Given the description of an element on the screen output the (x, y) to click on. 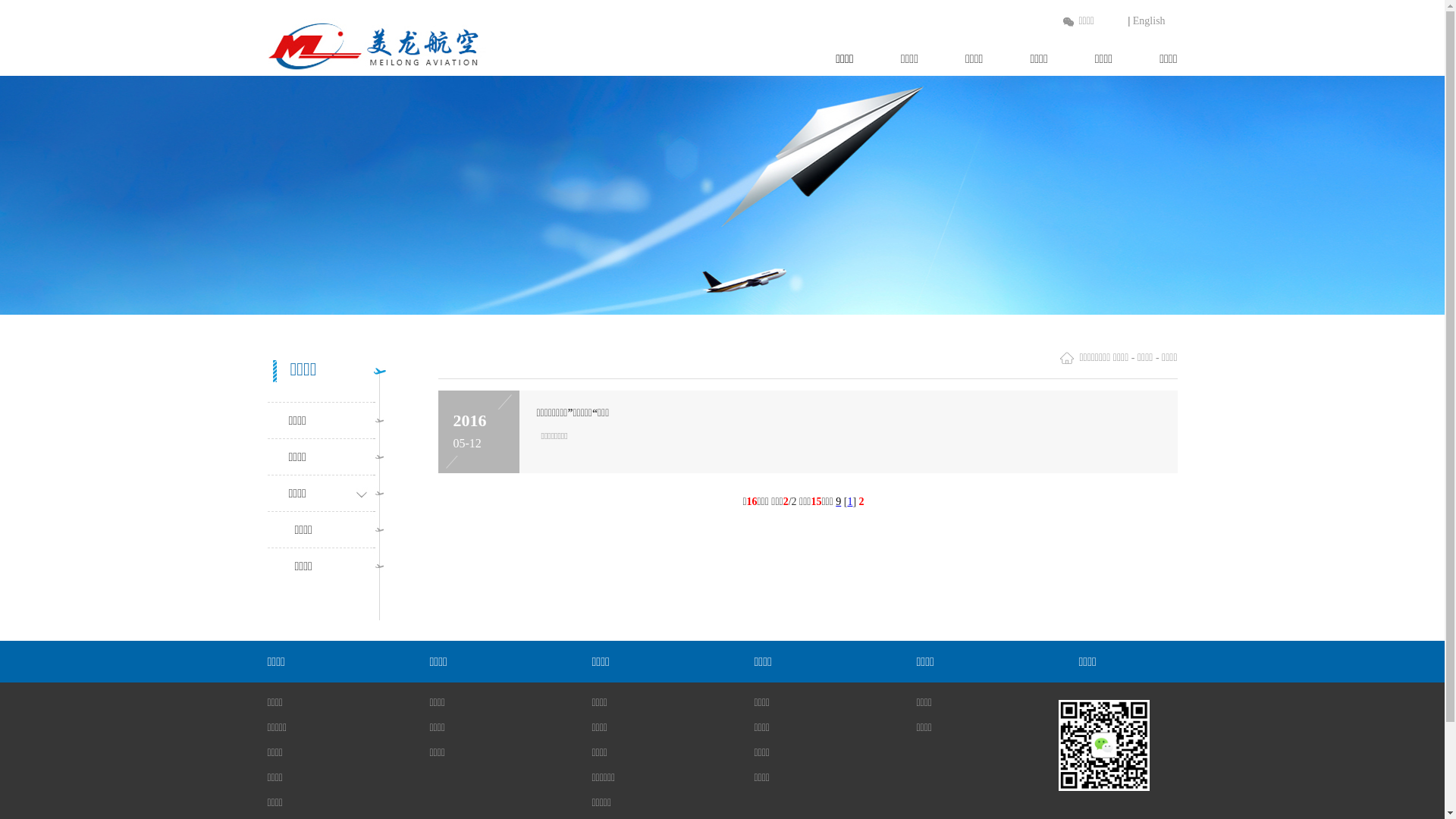
9 Element type: text (837, 501)
English Element type: text (1148, 20)
1 Element type: text (849, 501)
